Given the description of an element on the screen output the (x, y) to click on. 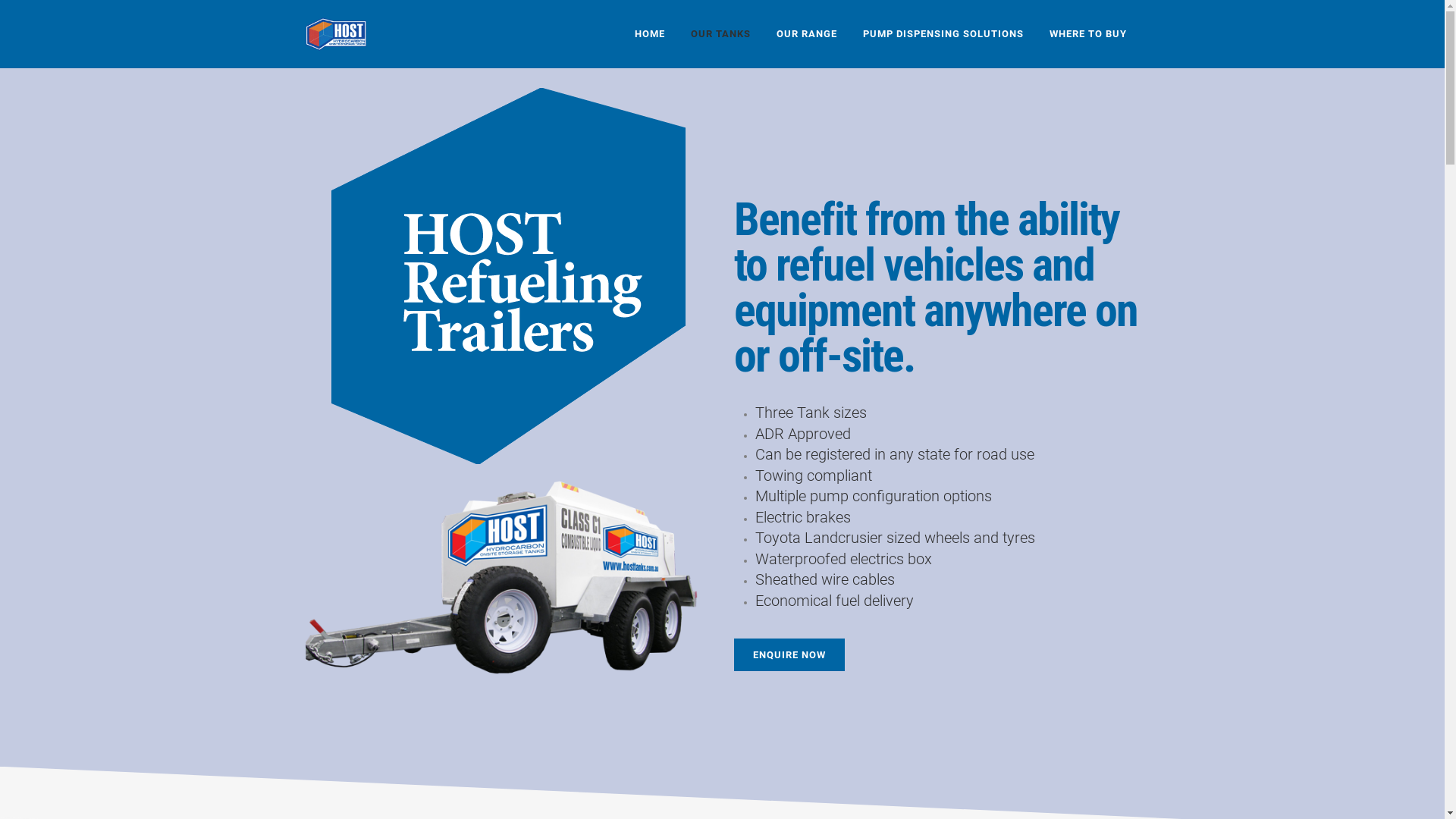
PUMP DISPENSING SOLUTIONS Element type: text (942, 34)
OUR RANGE Element type: text (805, 34)
HOST-Refueling-Trailers Element type: hover (507, 275)
ENQUIRE NOW Element type: text (789, 654)
OUR TANKS Element type: text (720, 34)
HOME Element type: text (649, 34)
HOST-mobile-refueling-trailers-hero Element type: hover (507, 577)
WHERE TO BUY Element type: text (1087, 34)
